Given the description of an element on the screen output the (x, y) to click on. 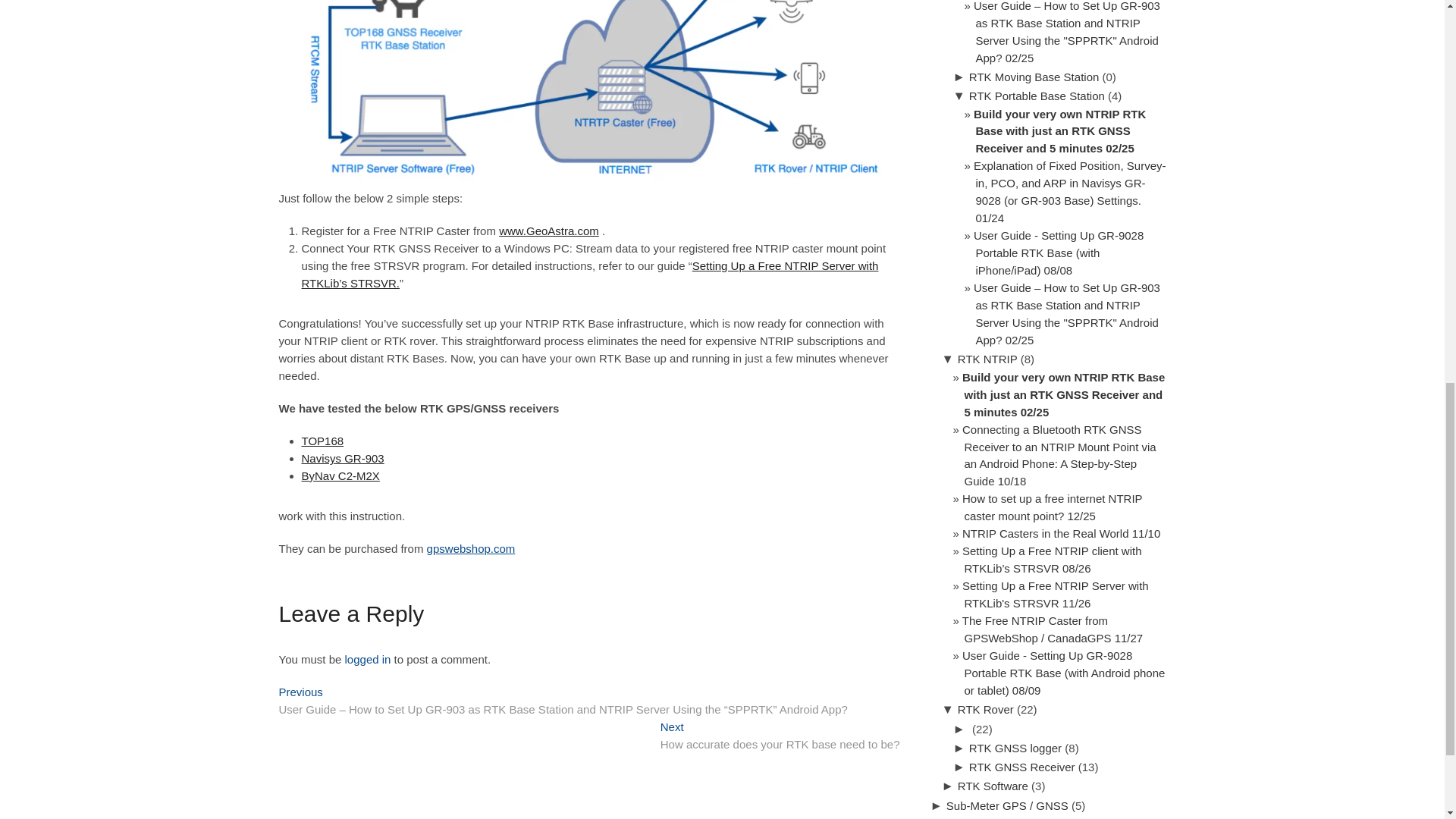
ByNav C2-M2X (340, 475)
TOP168 (322, 440)
gpswebshop.com (780, 736)
Navisys GR-903 (470, 548)
logged in (342, 458)
www.GeoAstra.com (368, 658)
